Given the description of an element on the screen output the (x, y) to click on. 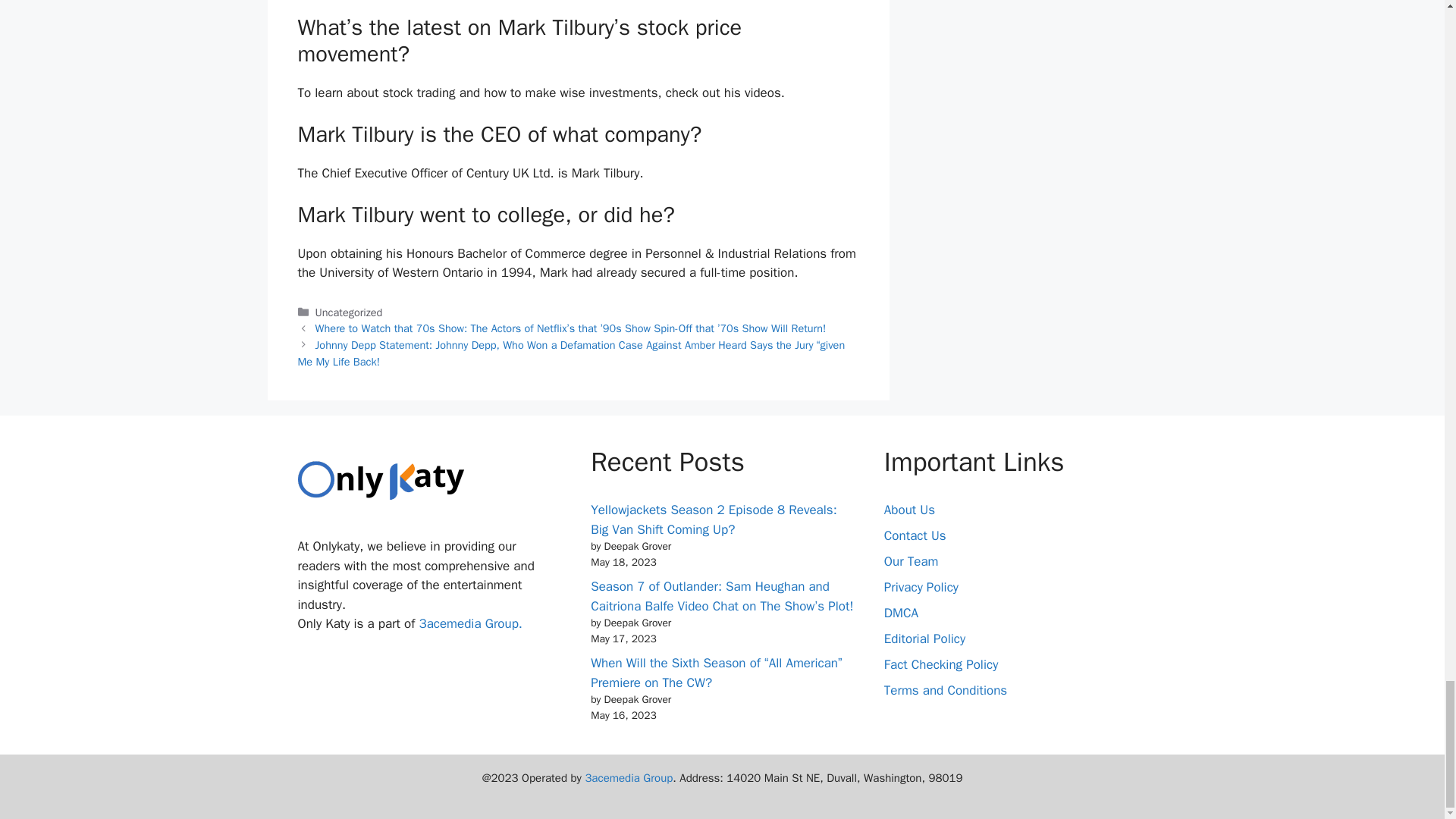
3acemedia Group. (470, 623)
About Us (908, 509)
Our Team (911, 561)
Contact Us (914, 535)
